Given the description of an element on the screen output the (x, y) to click on. 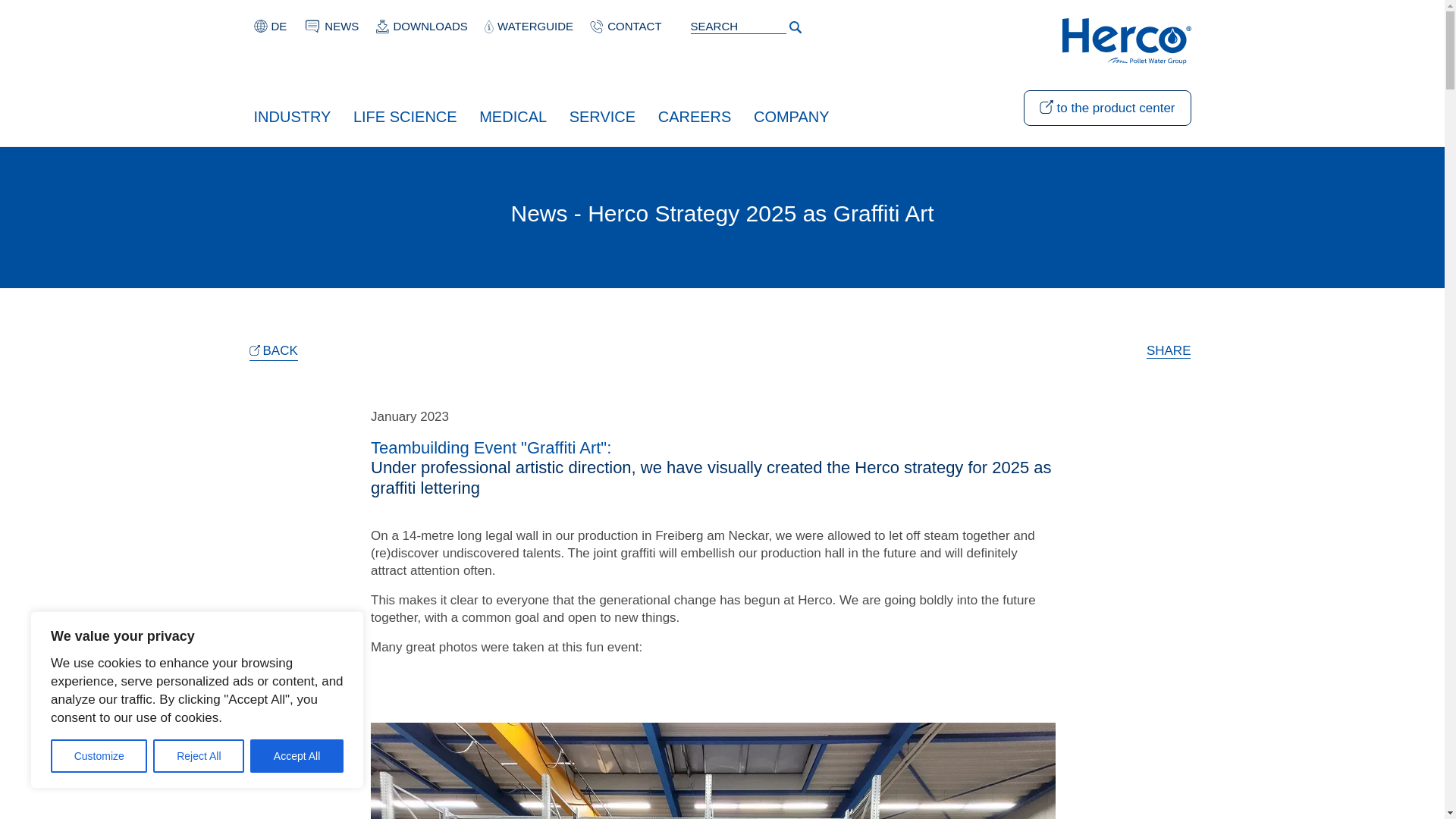
Customize (98, 756)
NEWS (341, 25)
Teambuilding "Herco Strategy 2025" als Graffiti Art Event (278, 25)
Accept All (296, 756)
LIFE SCIENCE (405, 115)
CONTACT (634, 25)
MEDICAL (513, 115)
INDUSTRY (291, 115)
DE (278, 25)
